Given the description of an element on the screen output the (x, y) to click on. 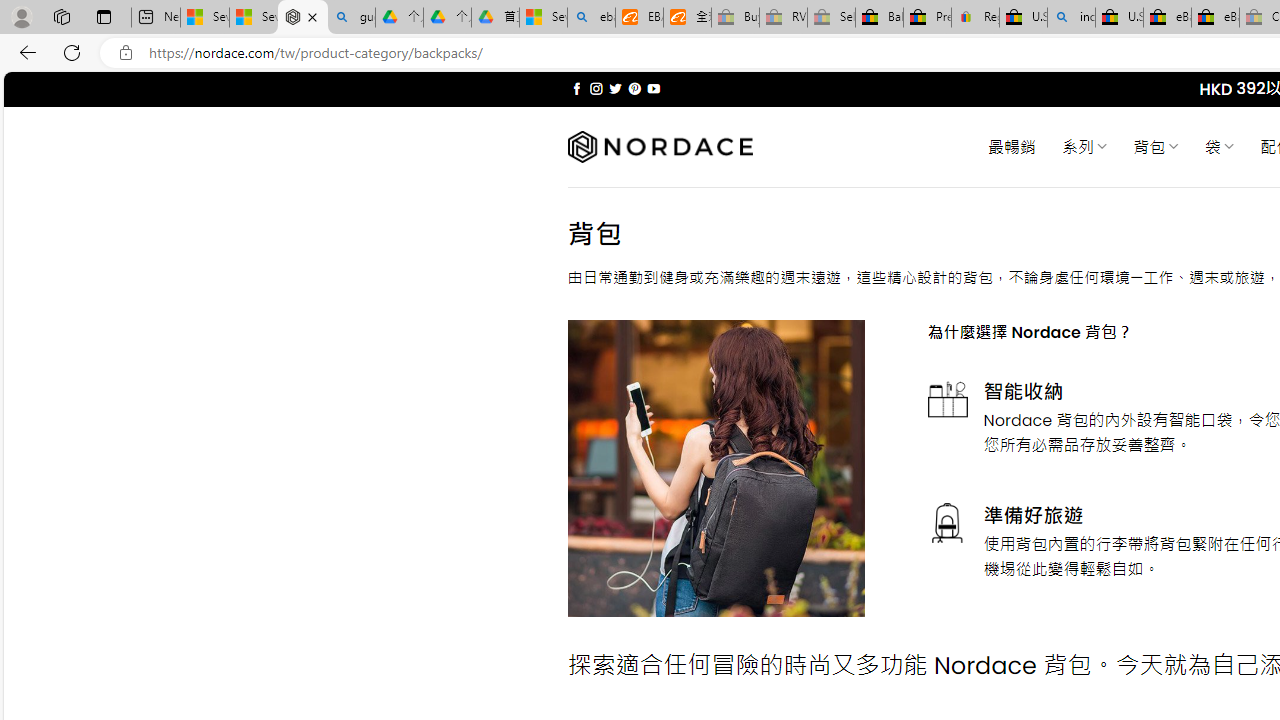
including - Search (1071, 17)
Follow on Twitter (615, 88)
Press Room - eBay Inc. (927, 17)
